Given the description of an element on the screen output the (x, y) to click on. 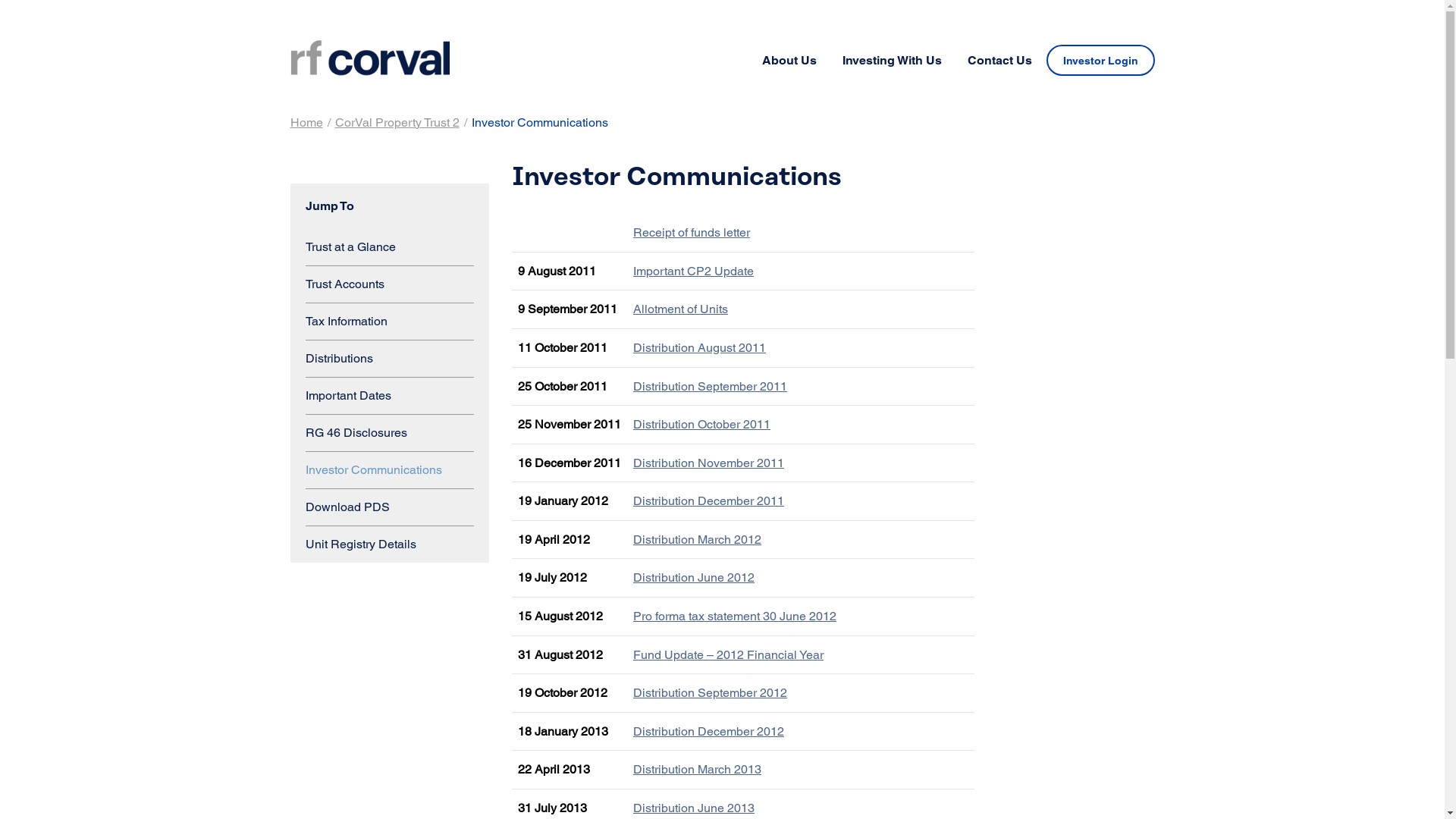
Investor Login Element type: text (1100, 59)
Home Element type: text (305, 122)
RG 46 Disclosures Element type: text (388, 432)
Distribution March 2012 Element type: text (697, 539)
Trust at a Glance Element type: text (388, 247)
Distribution August 2011 Element type: text (699, 347)
Important CP2 Update Element type: text (693, 270)
Specialist Property Fund Manager Element type: hover (368, 57)
Distribution October 2011 Element type: text (701, 424)
Distribution December 2012 Element type: text (708, 731)
Distribution September 2012 Element type: text (710, 692)
CorVal Property Trust 2 Element type: text (397, 122)
Pro forma tax statement 30 June 2012 Element type: text (734, 615)
Distribution June 2013 Element type: text (693, 807)
Download PDS Element type: text (388, 506)
Important Dates Element type: text (388, 395)
Trust Accounts Element type: text (388, 283)
Distribution June 2012 Element type: text (693, 577)
Distribution March 2013 Element type: text (697, 769)
Tax Information Element type: text (388, 320)
Distribution December 2011 Element type: text (708, 500)
Contact Us Element type: text (998, 60)
Investor Communications Element type: text (388, 469)
Distributions Element type: text (388, 357)
Allotment of Units Element type: text (680, 308)
Unit Registry Details Element type: text (388, 543)
Distribution November 2011 Element type: text (708, 462)
Investing With Us Element type: text (892, 60)
About Us Element type: text (789, 60)
Receipt of funds letter Element type: text (691, 232)
Distribution September 2011 Element type: text (710, 386)
